Given the description of an element on the screen output the (x, y) to click on. 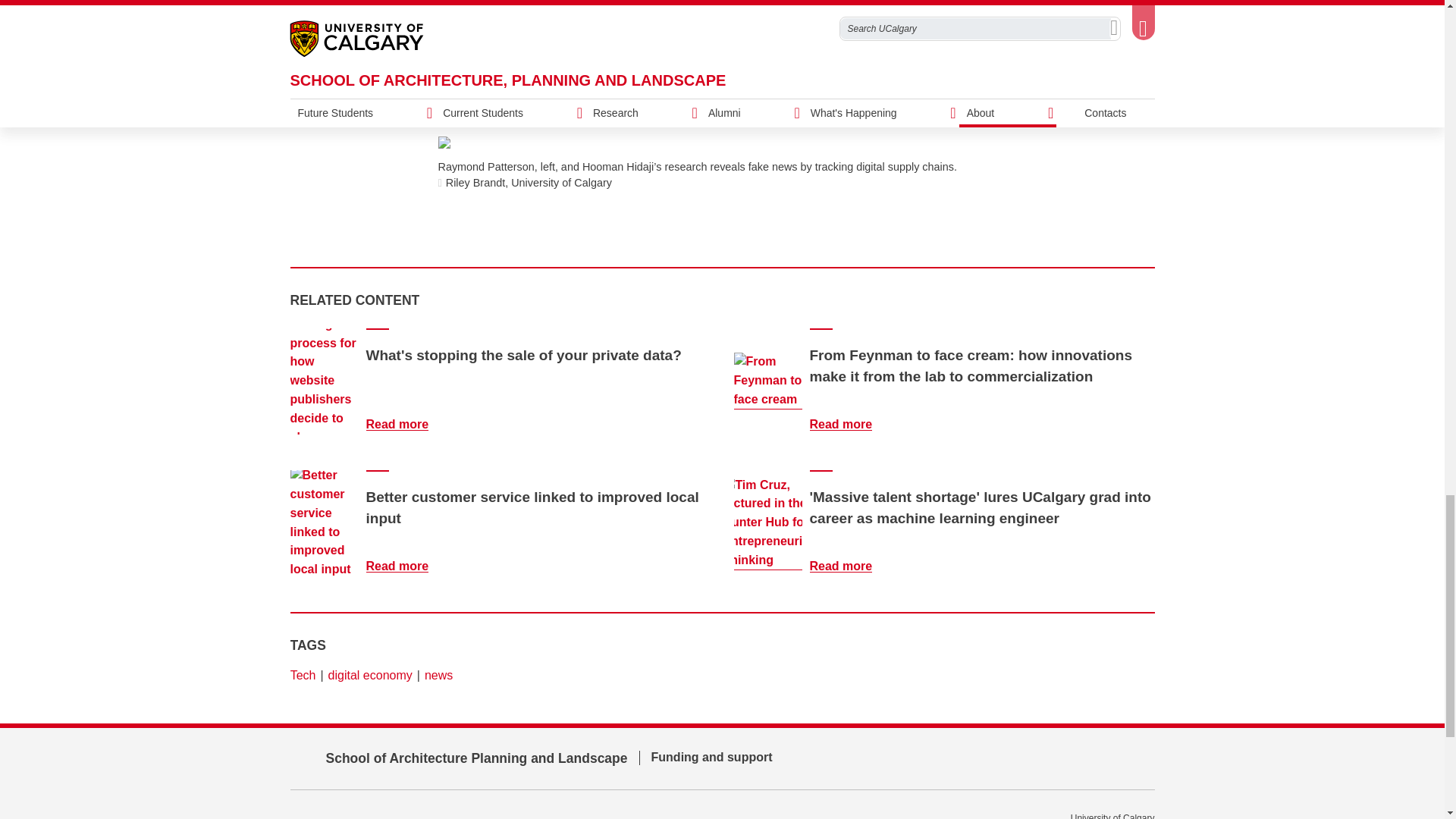
Better customer service linked to improved local input (405, 565)
What's stopping the sale of your private data? (405, 423)
